Given the description of an element on the screen output the (x, y) to click on. 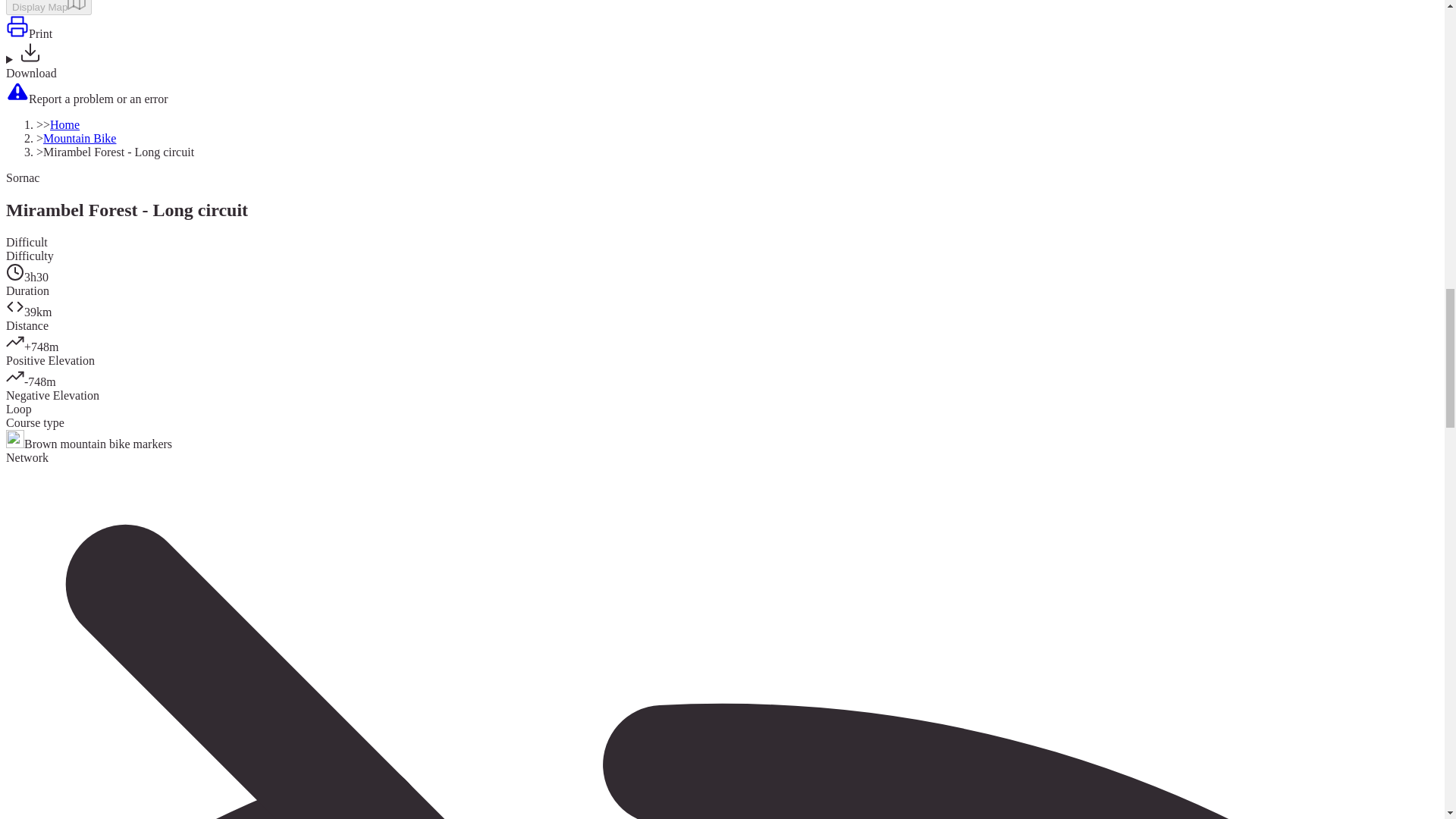
Home (64, 124)
Display Map (48, 7)
Mountain Bike (79, 137)
